Given the description of an element on the screen output the (x, y) to click on. 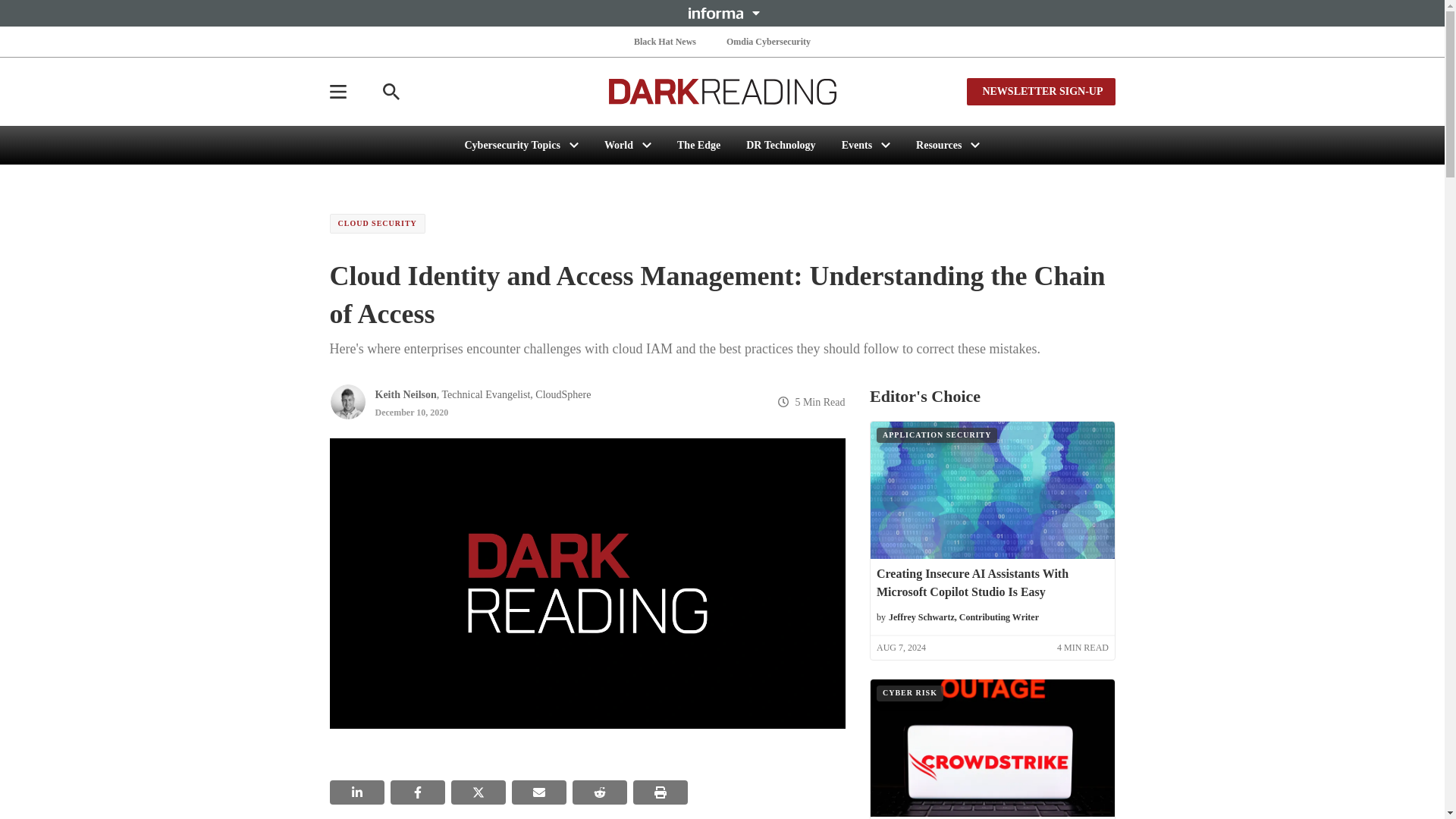
Picture of Keith Neilson (347, 402)
Dark Reading Logo (721, 91)
Omdia Cybersecurity (768, 41)
Black Hat News (664, 41)
NEWSLETTER SIGN-UP (1040, 90)
